Given the description of an element on the screen output the (x, y) to click on. 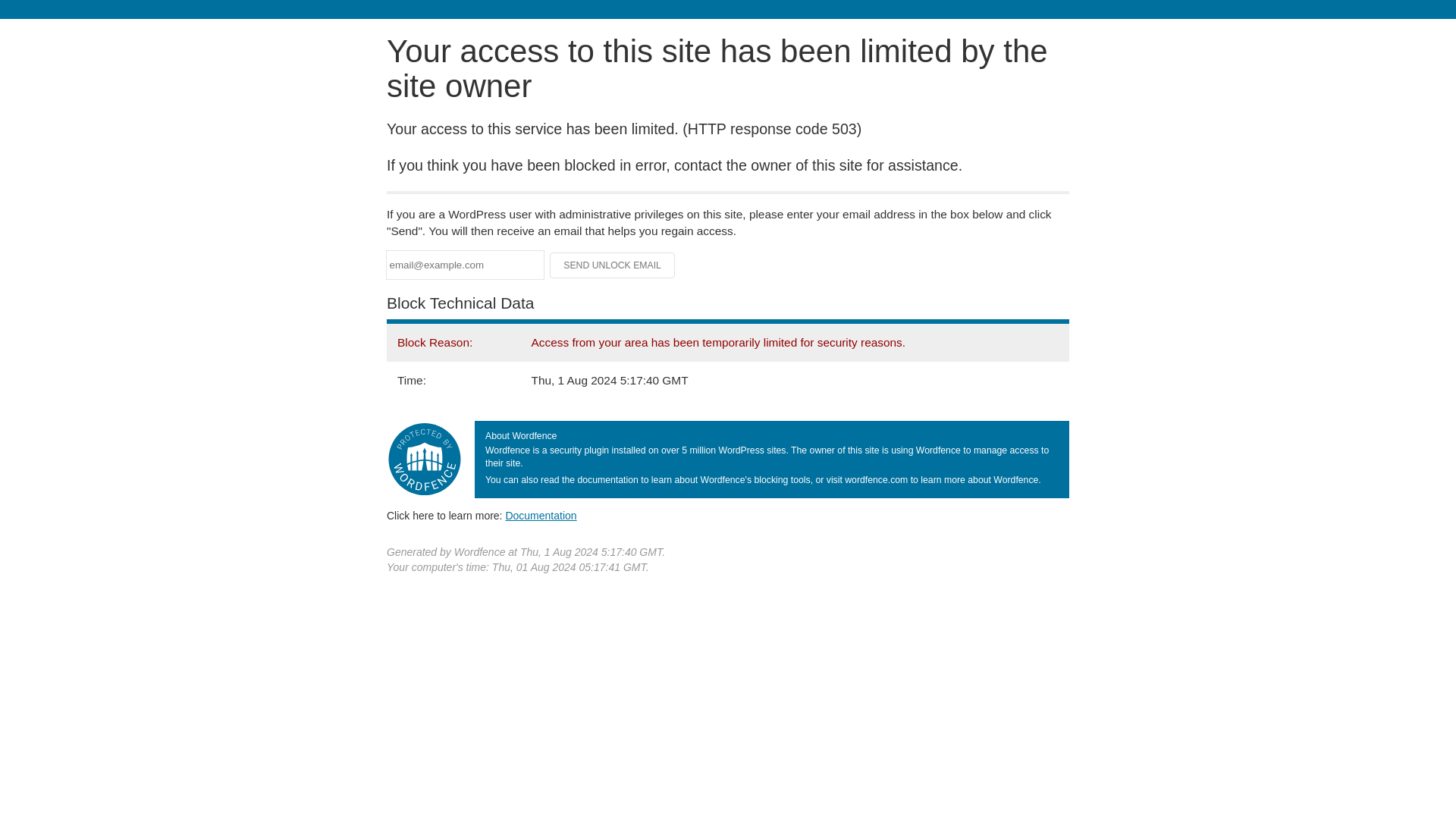
Documentation (540, 515)
Send Unlock Email (612, 265)
Send Unlock Email (612, 265)
